Given the description of an element on the screen output the (x, y) to click on. 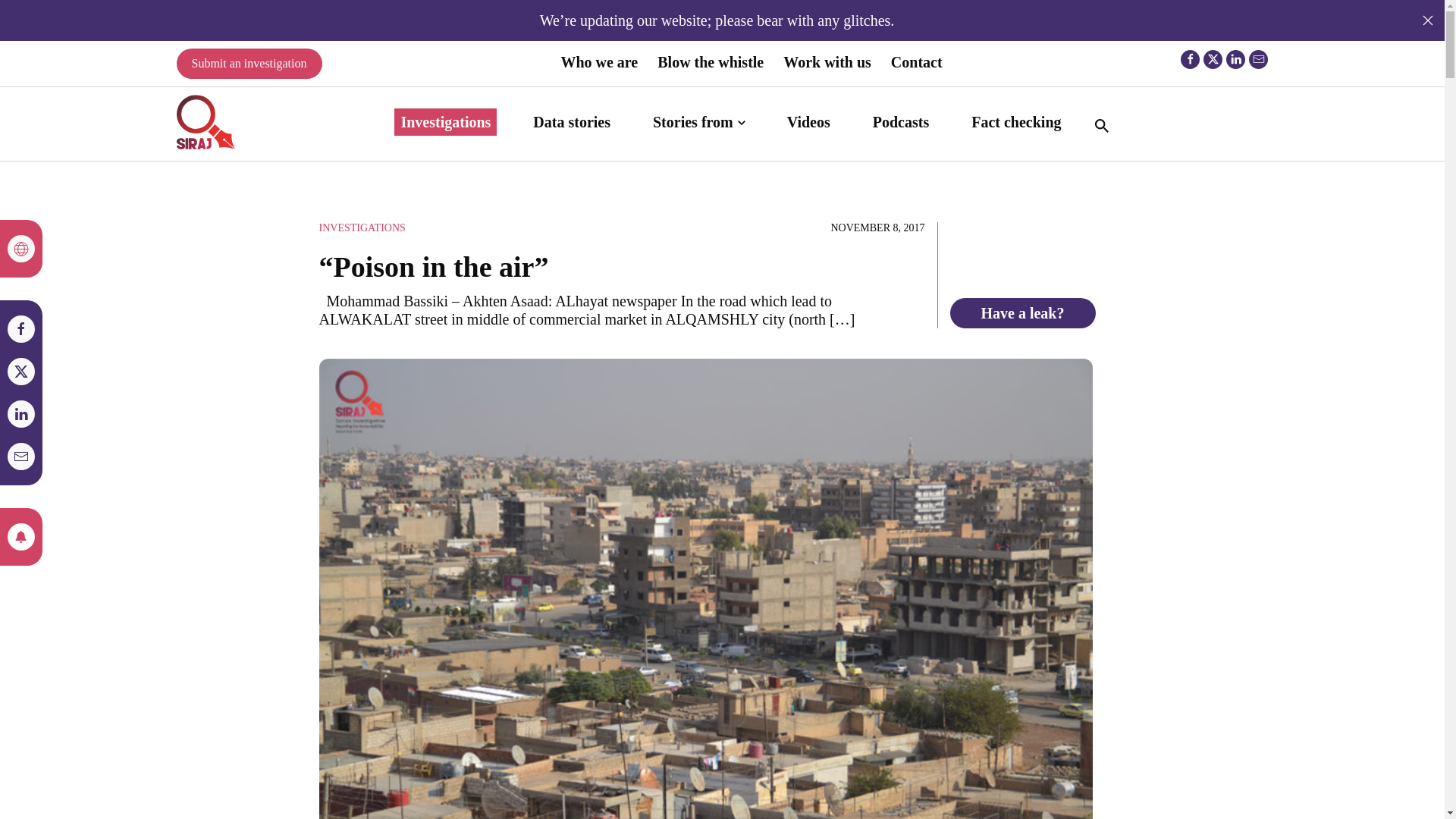
Blow the whistle (710, 62)
Who we are (598, 62)
Submit an investigation (248, 63)
Work with us (827, 62)
Contact (917, 62)
